Given the description of an element on the screen output the (x, y) to click on. 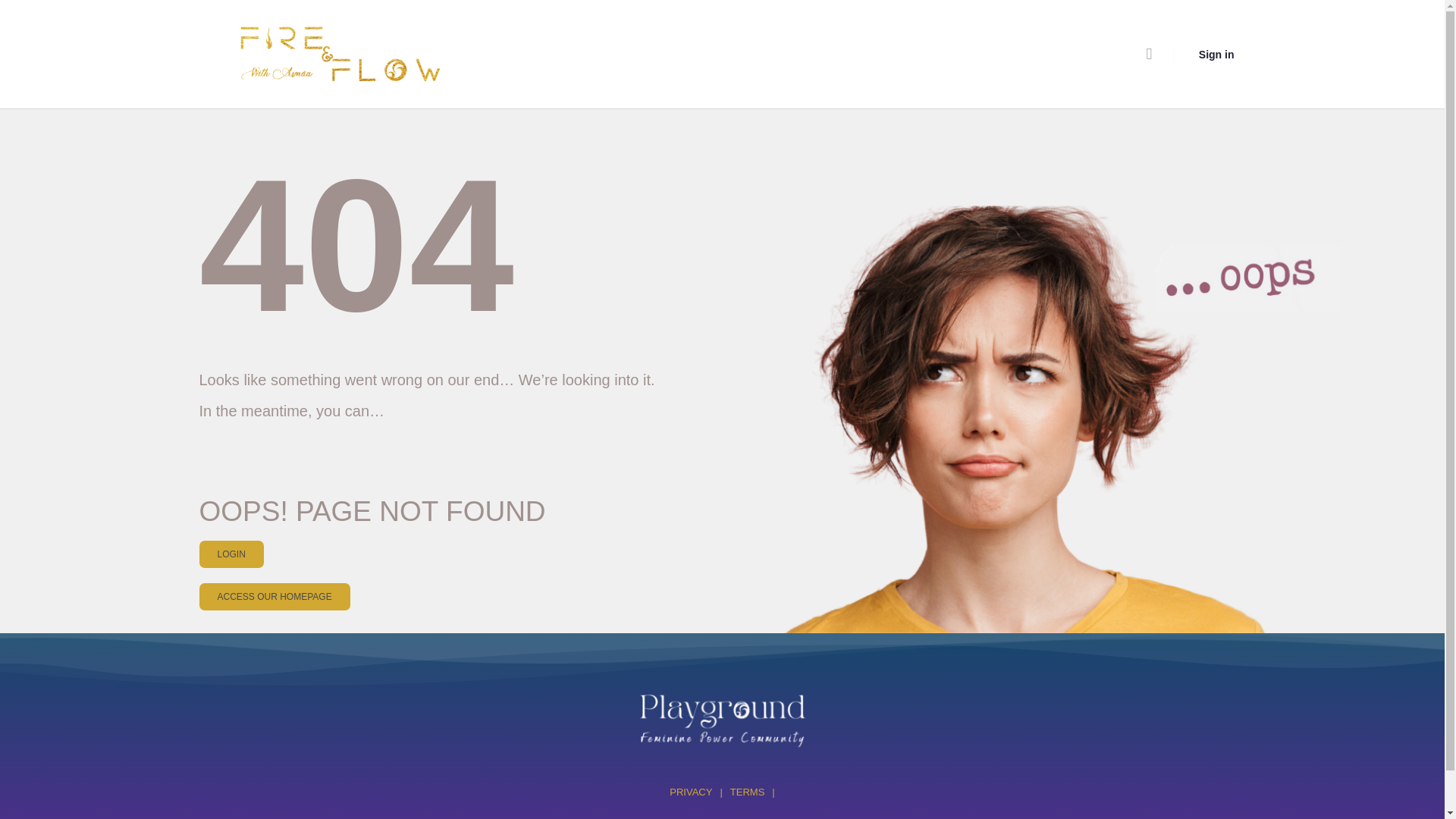
ACCESS OUR HOMEPAGE (273, 596)
TERMS (747, 792)
Sign in (1216, 53)
LOGIN (230, 554)
PRIVACY (690, 792)
